Given the description of an element on the screen output the (x, y) to click on. 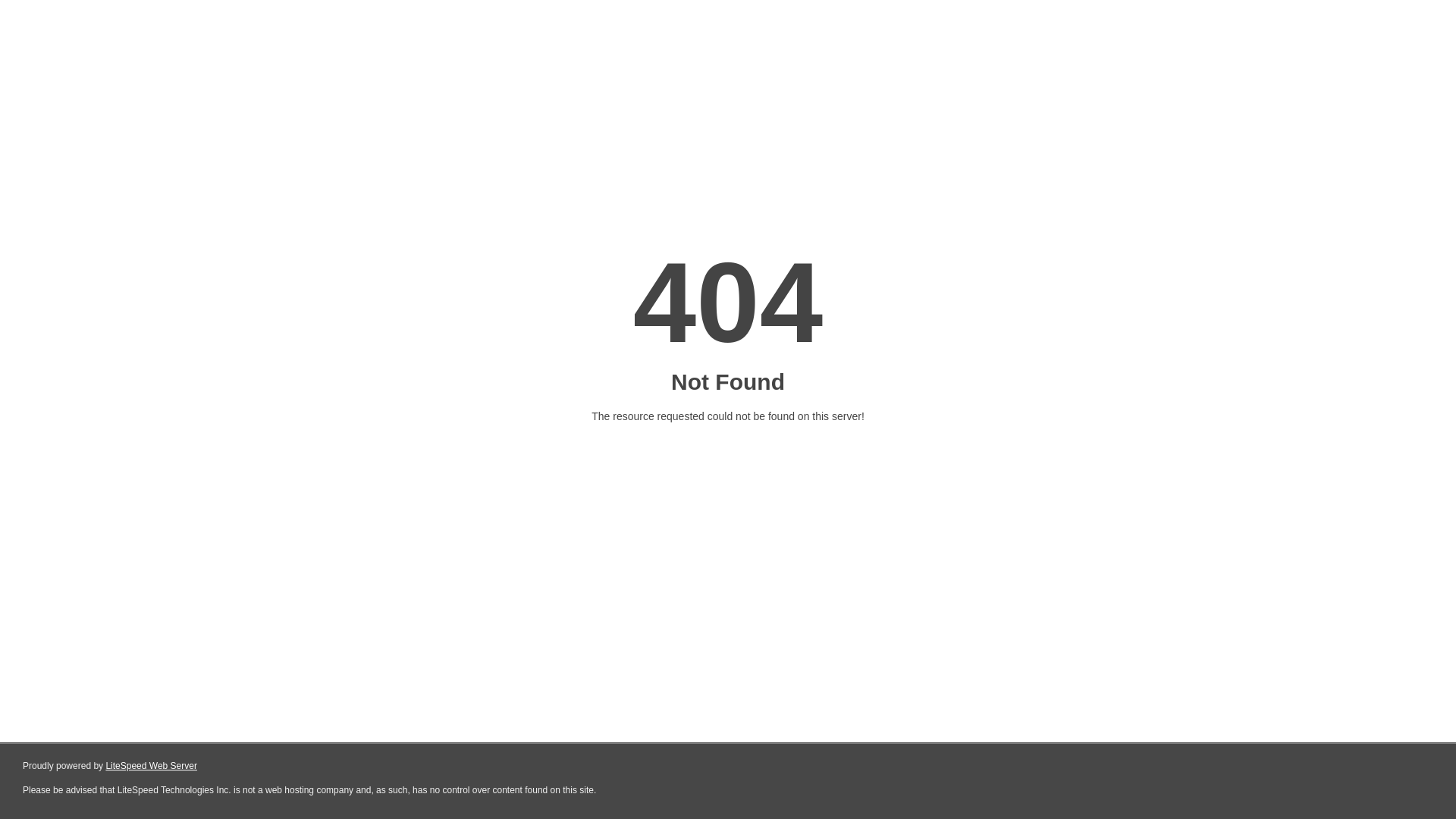
LiteSpeed Web Server Element type: text (151, 765)
